Given the description of an element on the screen output the (x, y) to click on. 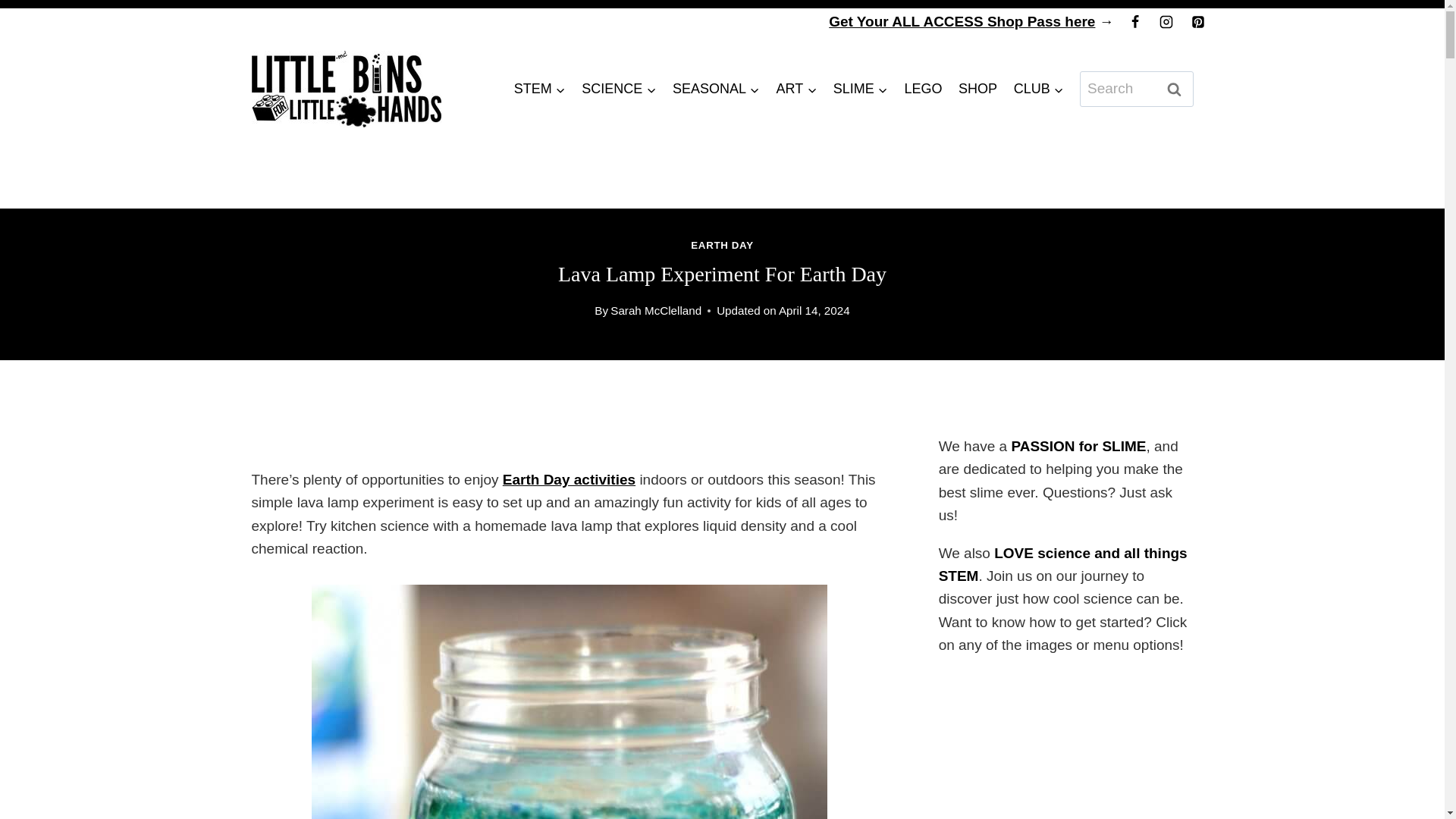
SCIENCE (618, 88)
Search (1174, 89)
STEM (539, 88)
Search (1174, 89)
SEASONAL (715, 88)
Get Your ALL ACCESS Shop Pass here (961, 21)
